Given the description of an element on the screen output the (x, y) to click on. 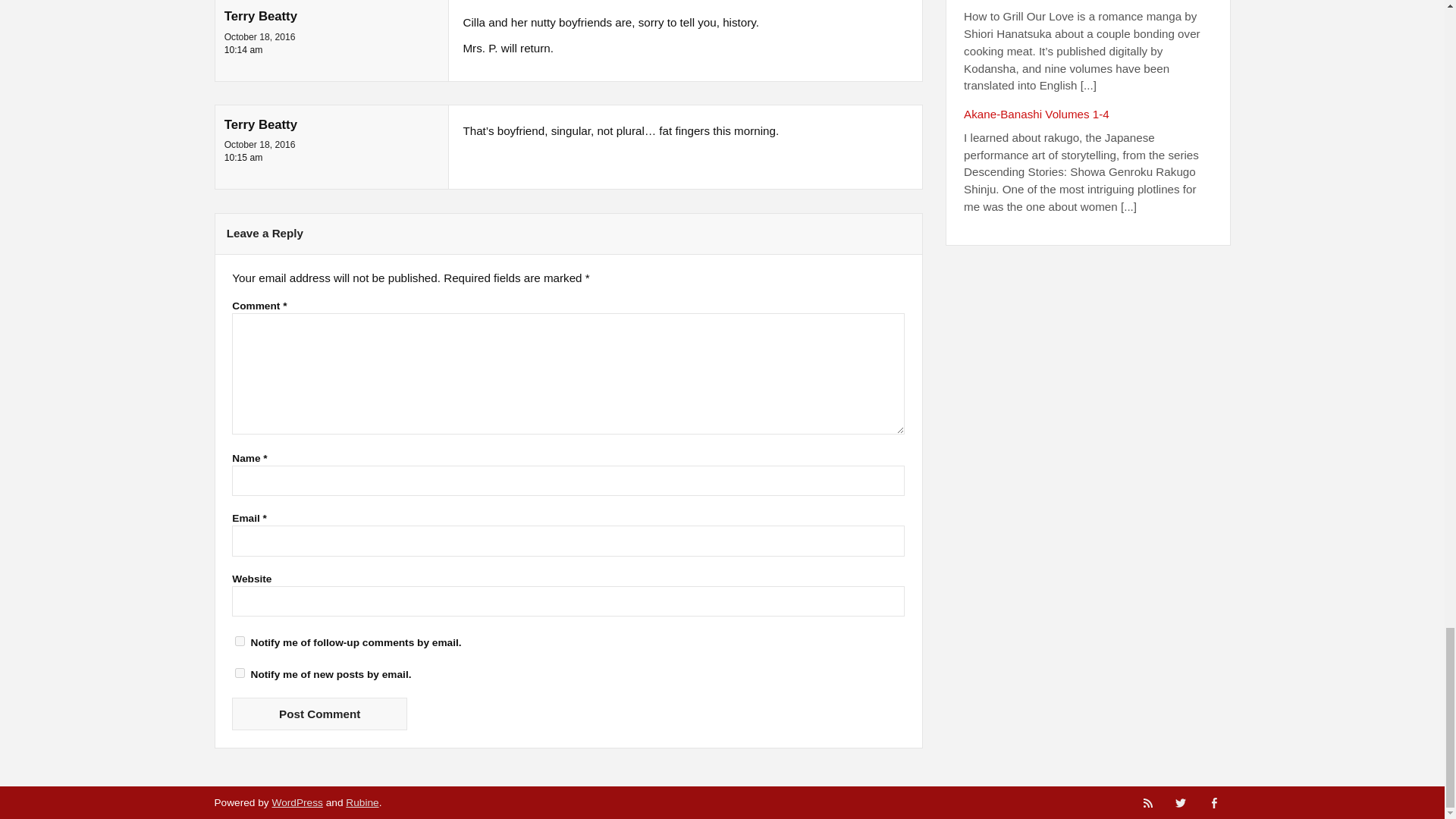
subscribe (239, 673)
subscribe (239, 641)
Post Comment (319, 713)
